Given the description of an element on the screen output the (x, y) to click on. 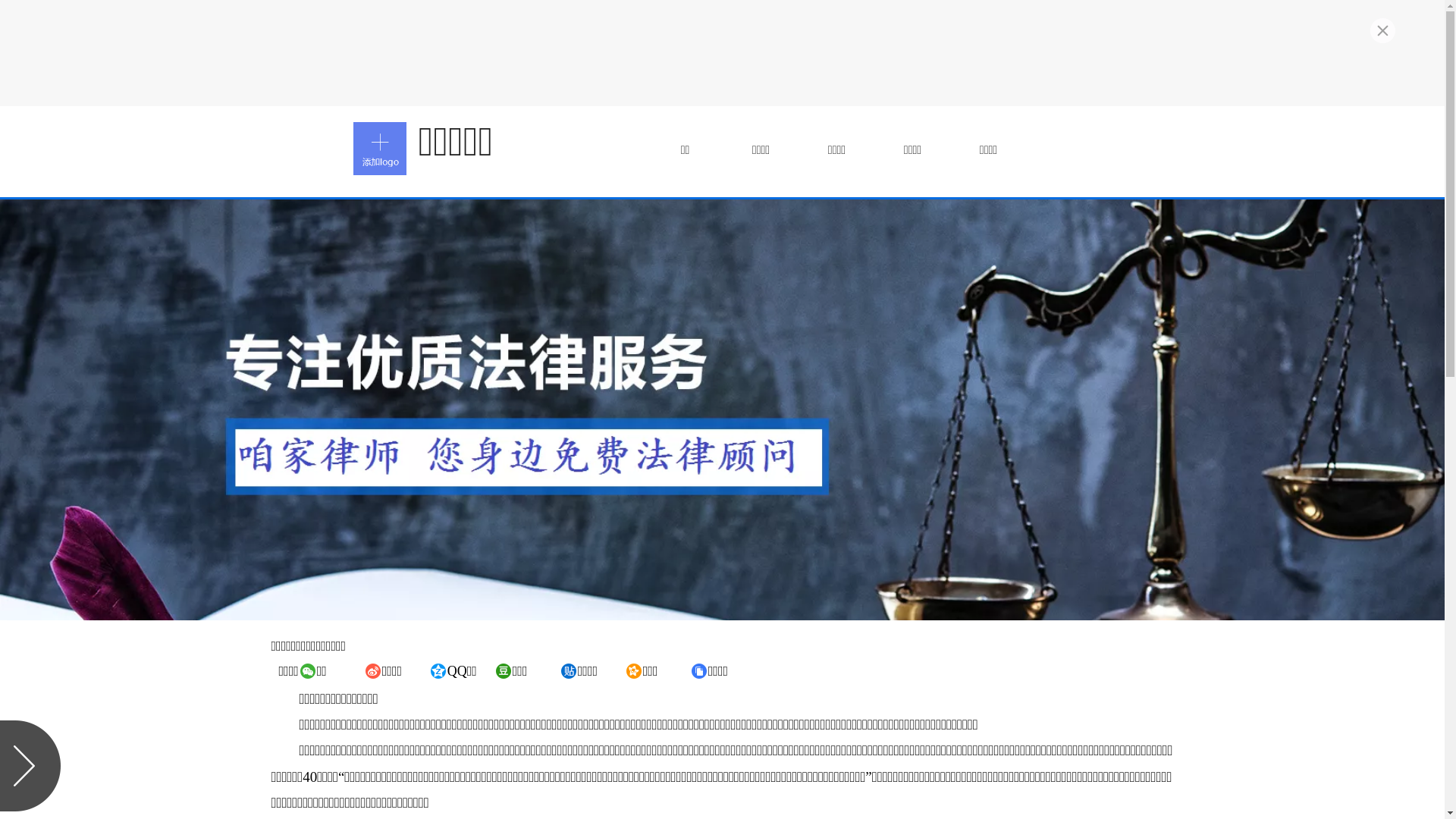
fkkb07 Element type: hover (379, 148)
